Given the description of an element on the screen output the (x, y) to click on. 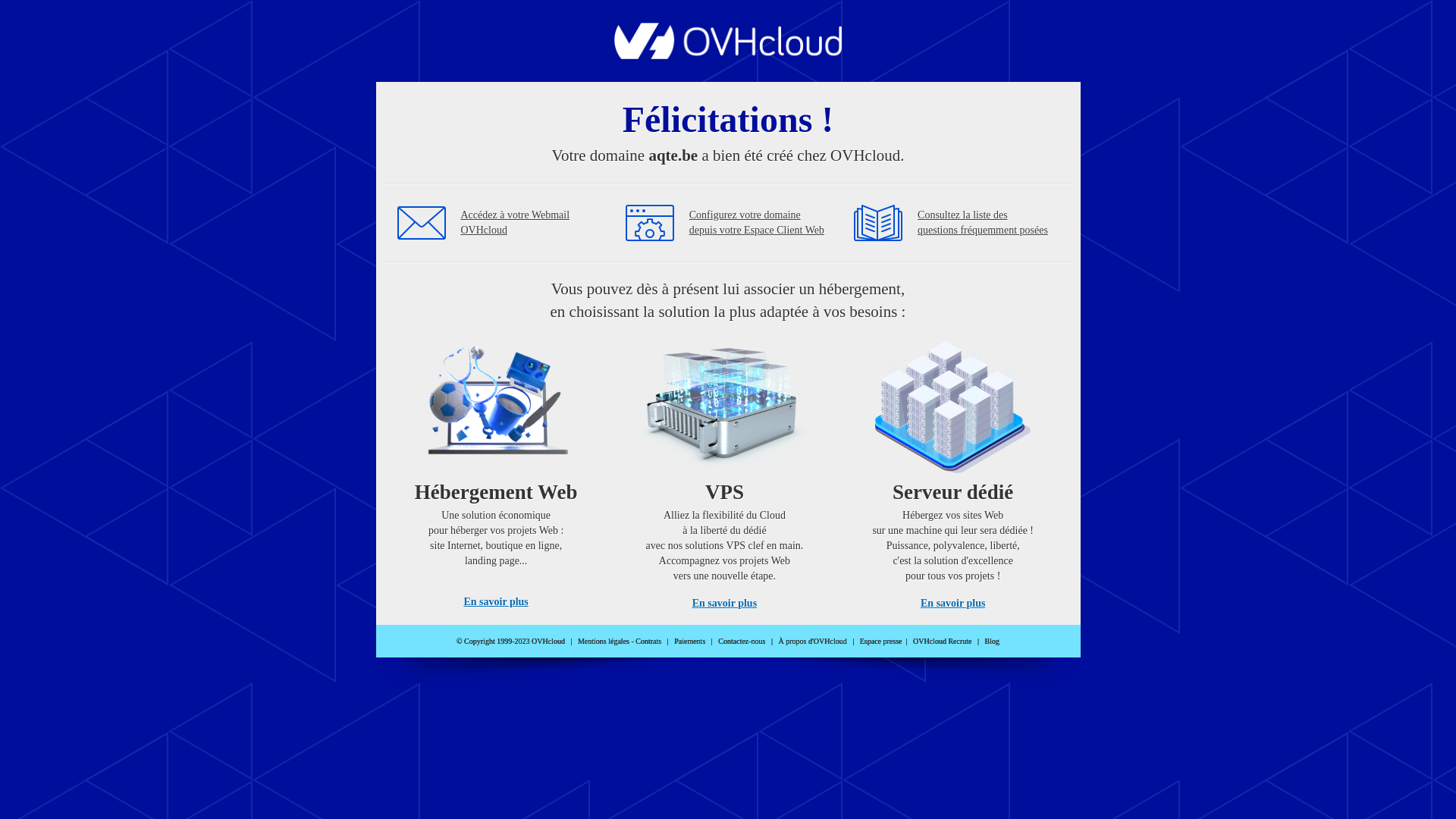
VPS Element type: hover (724, 469)
Espace presse Element type: text (880, 641)
En savoir plus Element type: text (495, 601)
Paiements Element type: text (689, 641)
OVHcloud Recrute Element type: text (942, 641)
Contactez-nous Element type: text (741, 641)
Blog Element type: text (992, 641)
OVHcloud Element type: hover (727, 54)
En savoir plus Element type: text (952, 602)
Configurez votre domaine
depuis votre Espace Client Web Element type: text (756, 222)
En savoir plus Element type: text (724, 602)
